Given the description of an element on the screen output the (x, y) to click on. 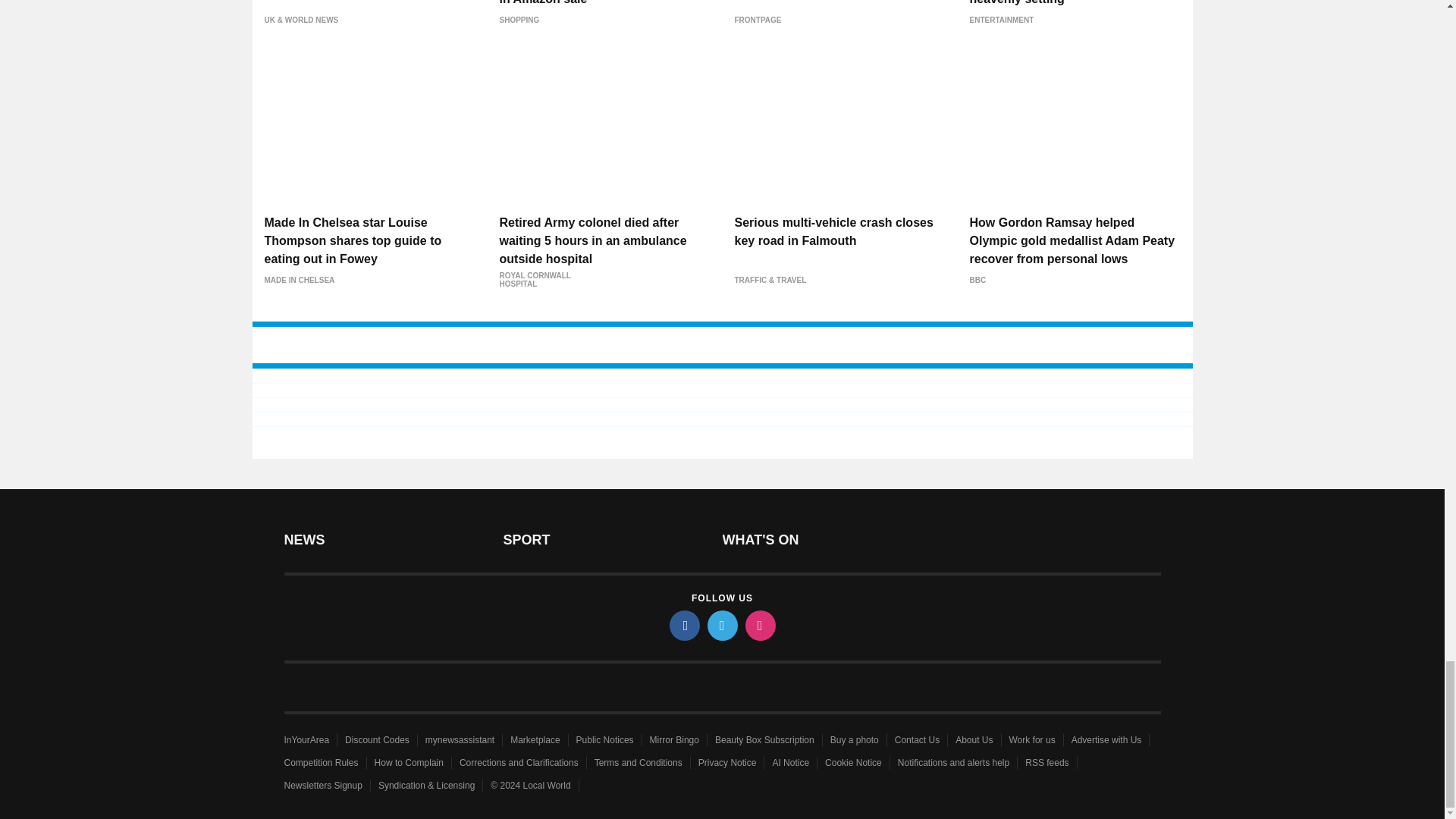
instagram (759, 625)
twitter (721, 625)
facebook (683, 625)
